Given the description of an element on the screen output the (x, y) to click on. 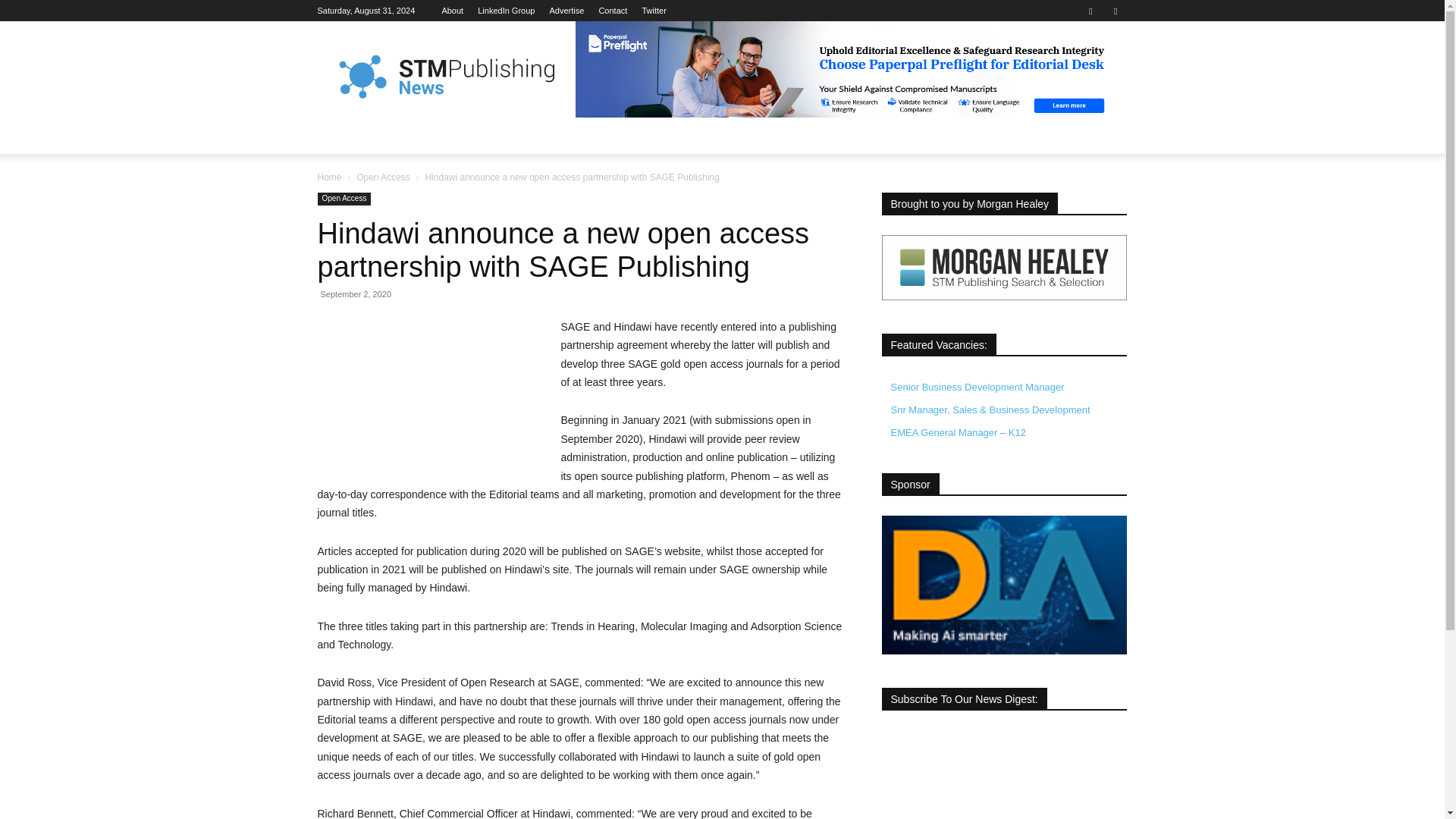
Contact (612, 10)
Advertise (565, 10)
LinkedIn (505, 10)
Linkedin (1090, 10)
LinkedIn Group (505, 10)
Twitter (653, 10)
Twitter (1114, 10)
FEATURED (405, 135)
HOME (342, 135)
About (452, 10)
